Given the description of an element on the screen output the (x, y) to click on. 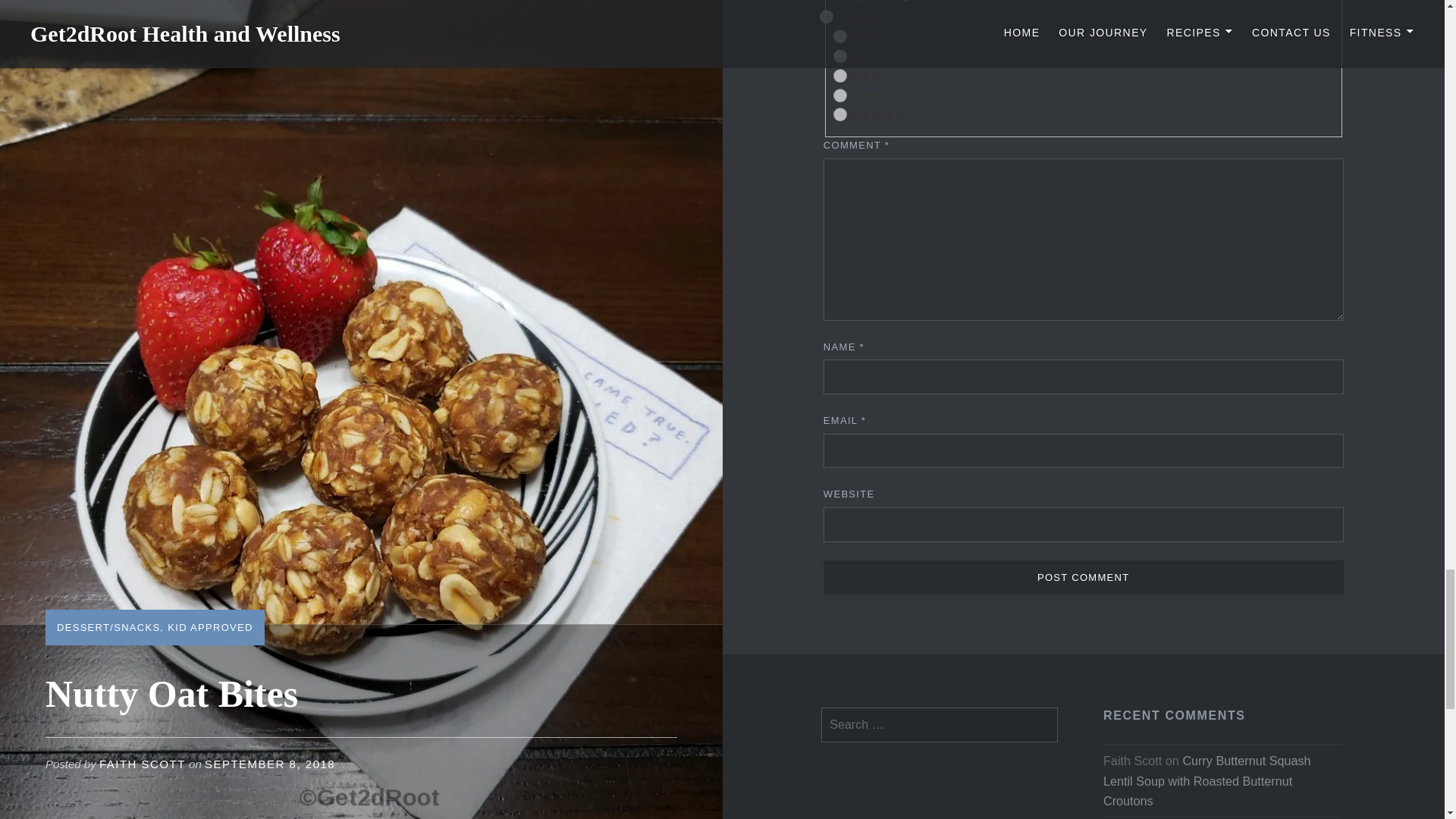
3 (839, 75)
1 (839, 36)
2 (839, 56)
Post Comment (1083, 577)
0 (825, 16)
5 (839, 114)
4 (839, 95)
